Given the description of an element on the screen output the (x, y) to click on. 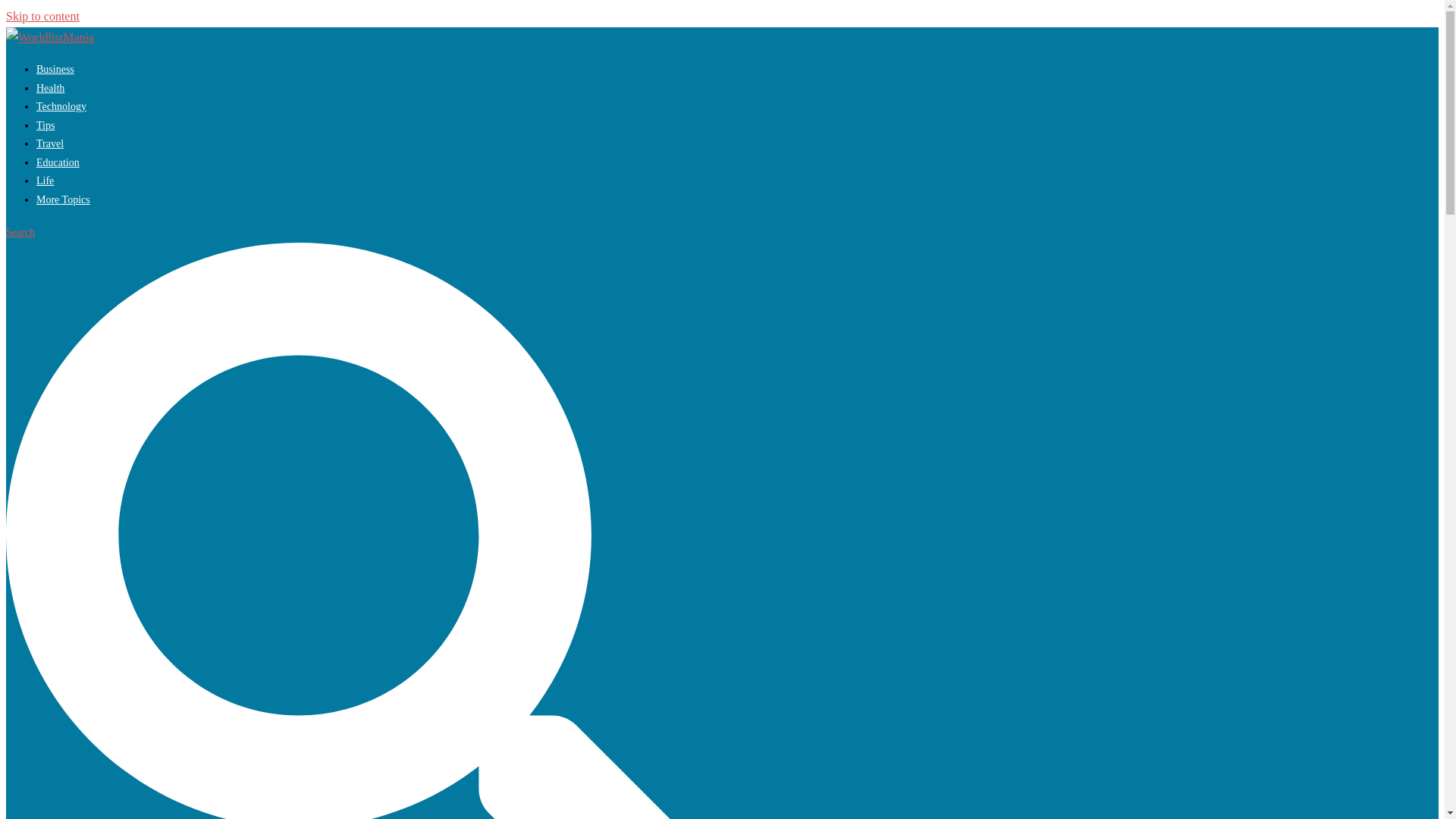
Technology (60, 106)
Business (55, 69)
Skip to content (42, 15)
Life (44, 180)
Education (58, 161)
More Topics (63, 199)
Tips (45, 125)
WorldlistMania (49, 37)
Travel (50, 143)
Health (50, 87)
